Given the description of an element on the screen output the (x, y) to click on. 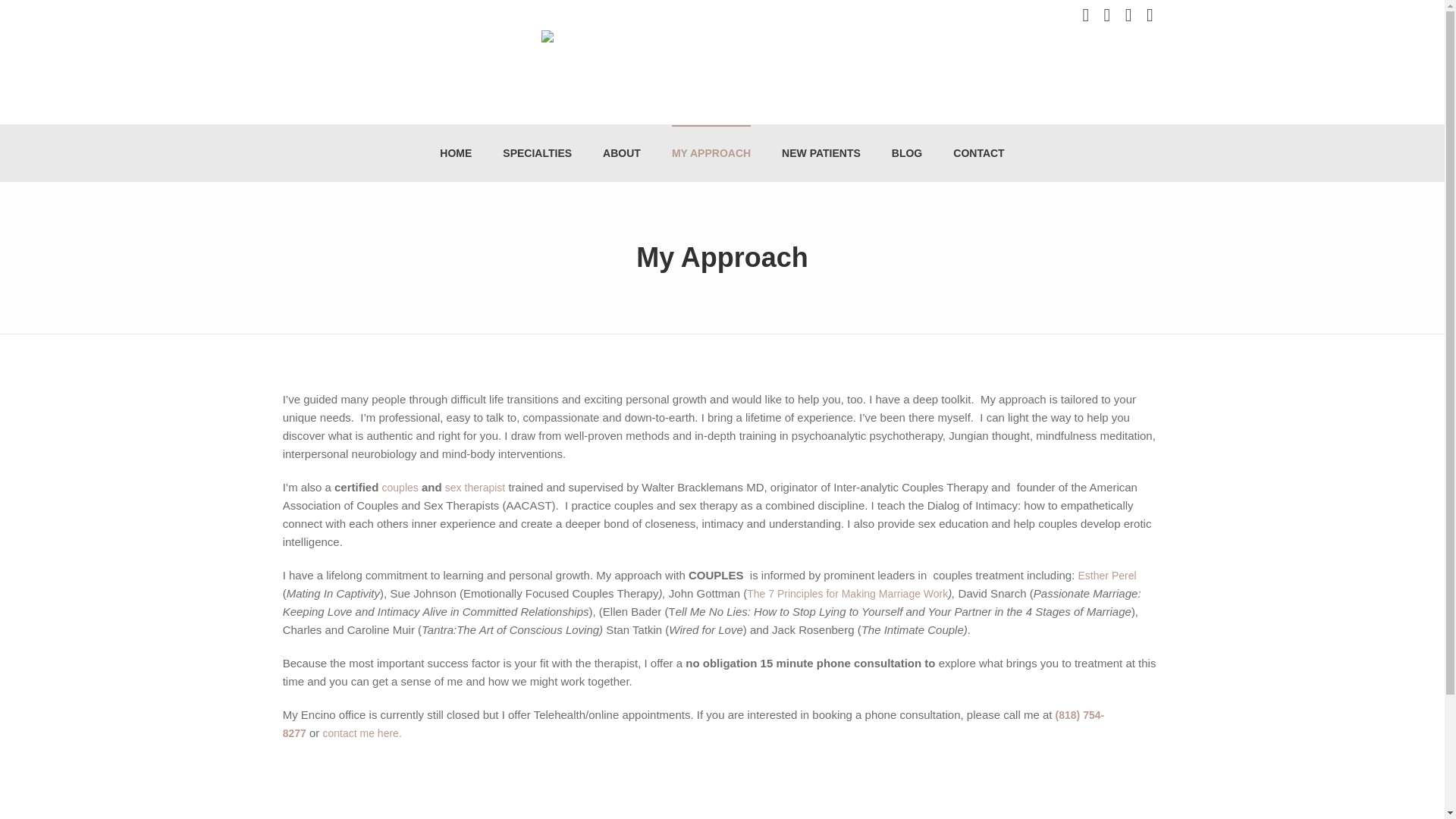
HOME (455, 152)
SPECIALTIES (536, 152)
Twitter (1085, 14)
MY APPROACH (710, 152)
The 7 Principles for Making Marriage Work (846, 593)
ABOUT (622, 152)
sex therapist (475, 487)
Facebook (1106, 14)
Esther Perel (1107, 575)
contact me here. (362, 733)
